Given the description of an element on the screen output the (x, y) to click on. 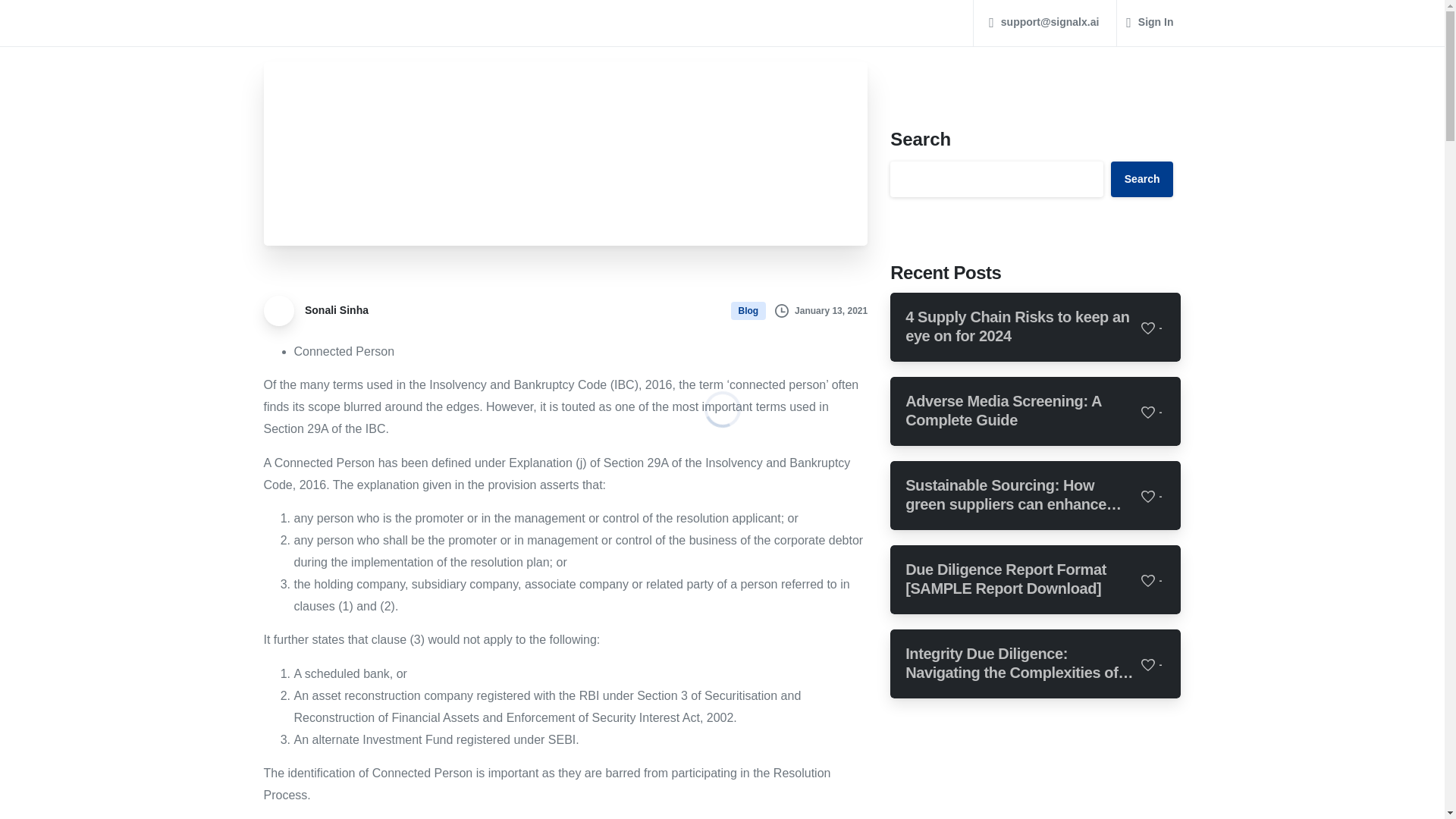
Sign In (1149, 22)
